Given the description of an element on the screen output the (x, y) to click on. 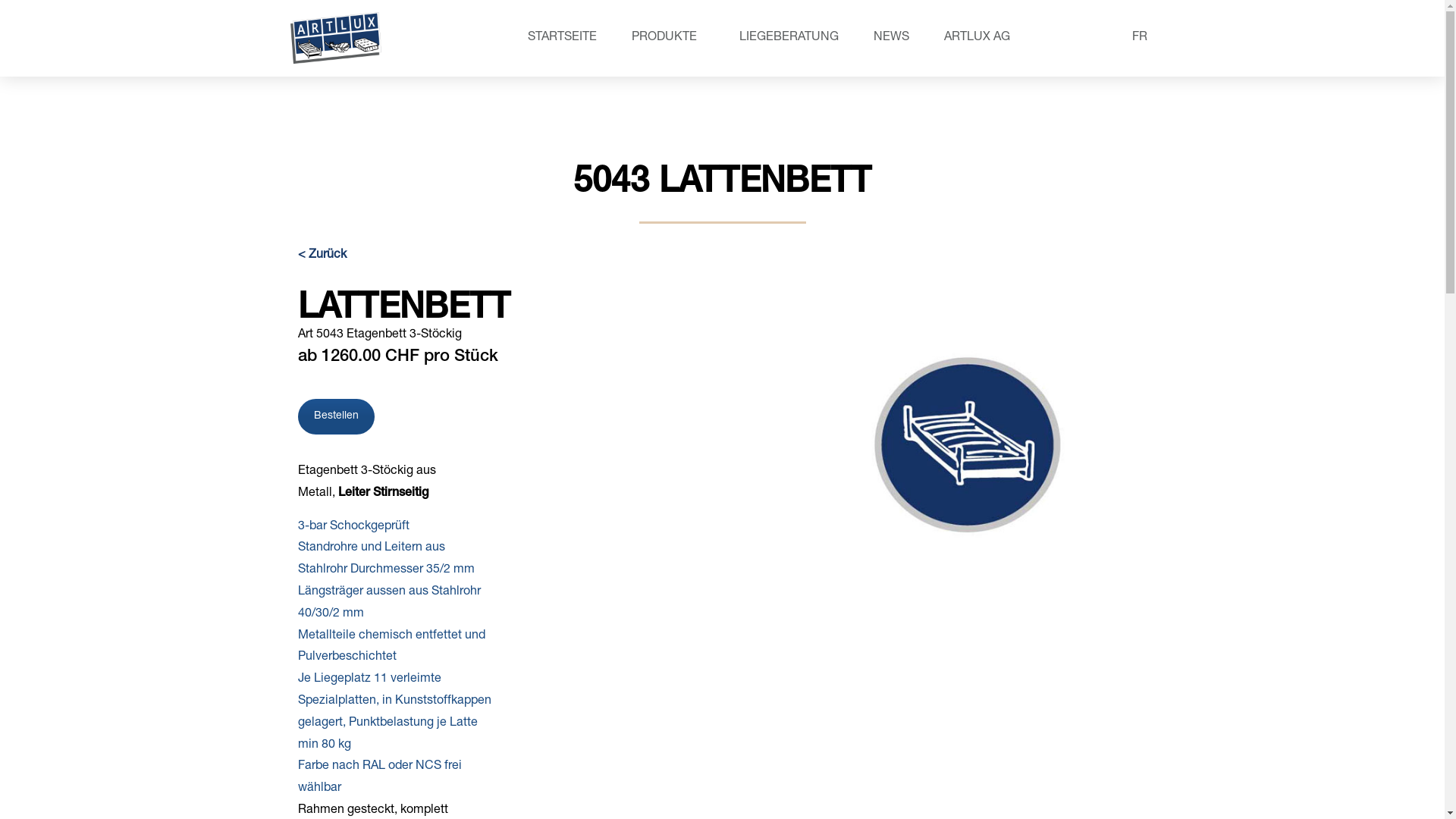
NEWS Element type: text (891, 38)
FR Element type: text (1135, 38)
Bestellen Element type: text (335, 416)
STARTSEITE Element type: text (561, 38)
PRODUKTE Element type: text (667, 38)
ARTLUX AG Element type: text (980, 38)
LIEGEBERATUNG Element type: text (788, 38)
